Given the description of an element on the screen output the (x, y) to click on. 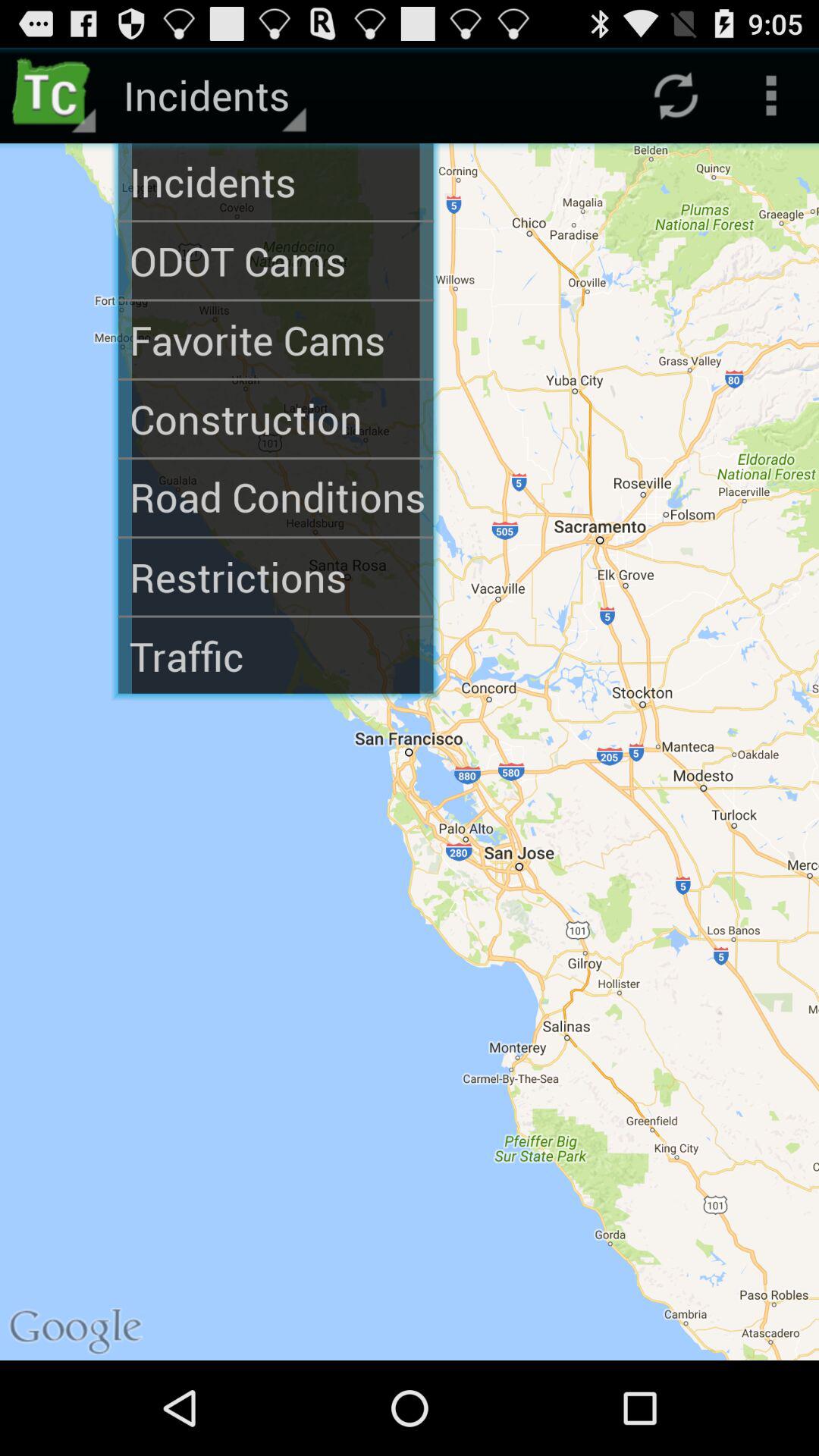
press favorite cams item (275, 339)
